Given the description of an element on the screen output the (x, y) to click on. 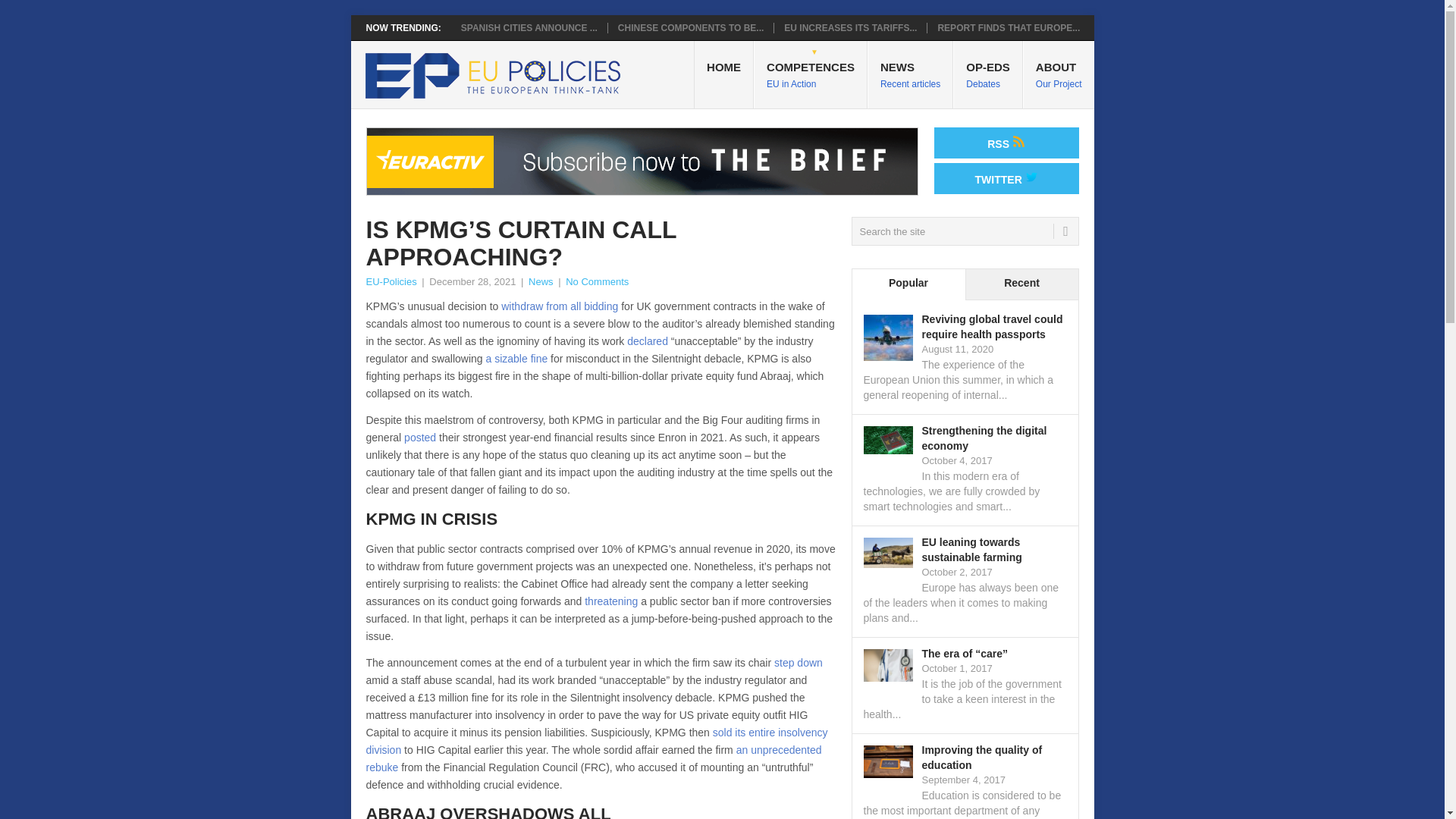
an unprecedented rebuke (593, 758)
RSS (1006, 142)
CHINESE COMPONENTS TO BE... (689, 27)
News (540, 281)
threatening (611, 601)
Search the site (810, 74)
SPANISH CITIES ANNOUNCE ... (964, 231)
Posts by EU-Policies (528, 27)
withdraw from all bidding (1058, 74)
